Given the description of an element on the screen output the (x, y) to click on. 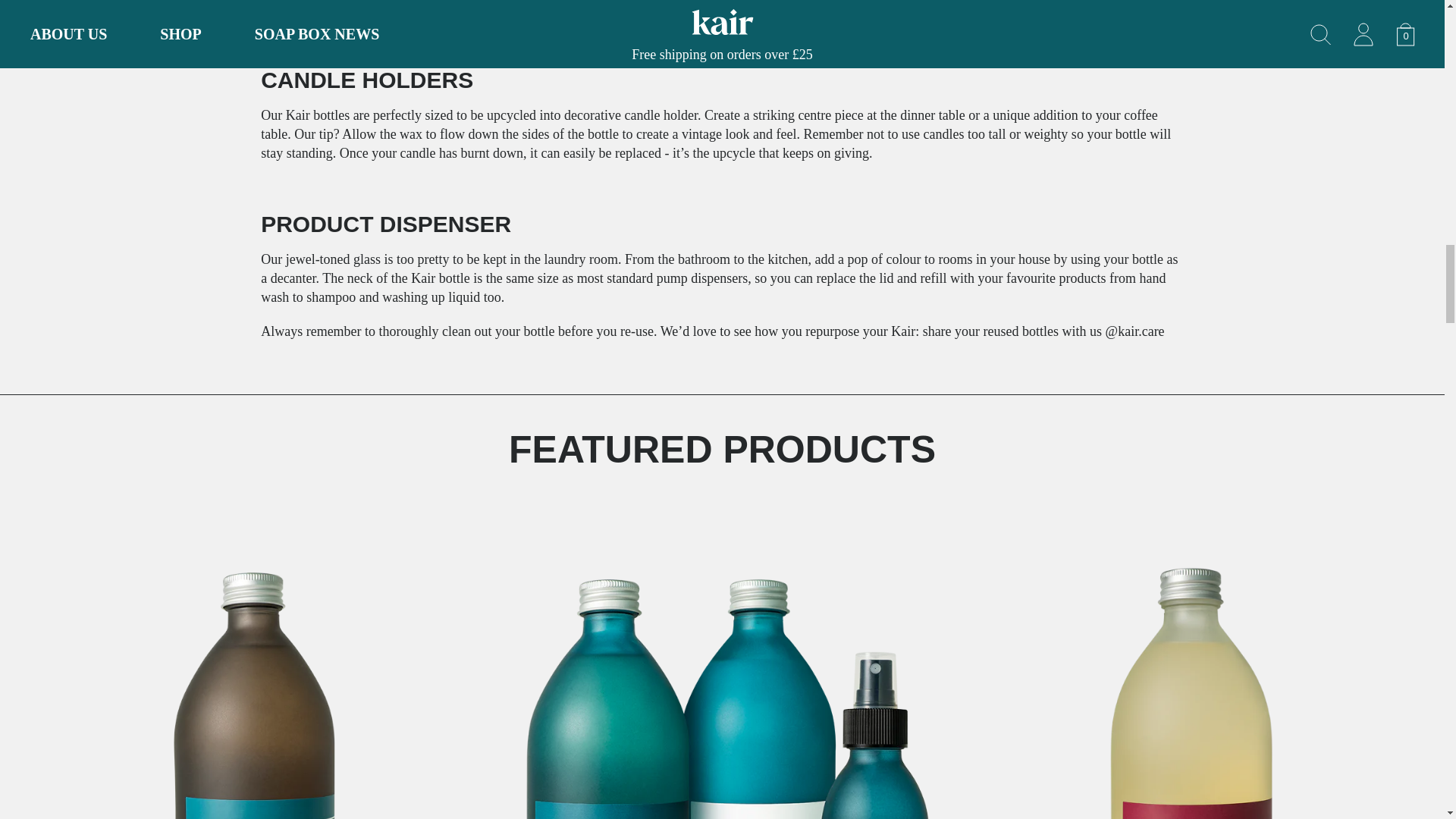
FEATURED PRODUCTS (721, 449)
